Given the description of an element on the screen output the (x, y) to click on. 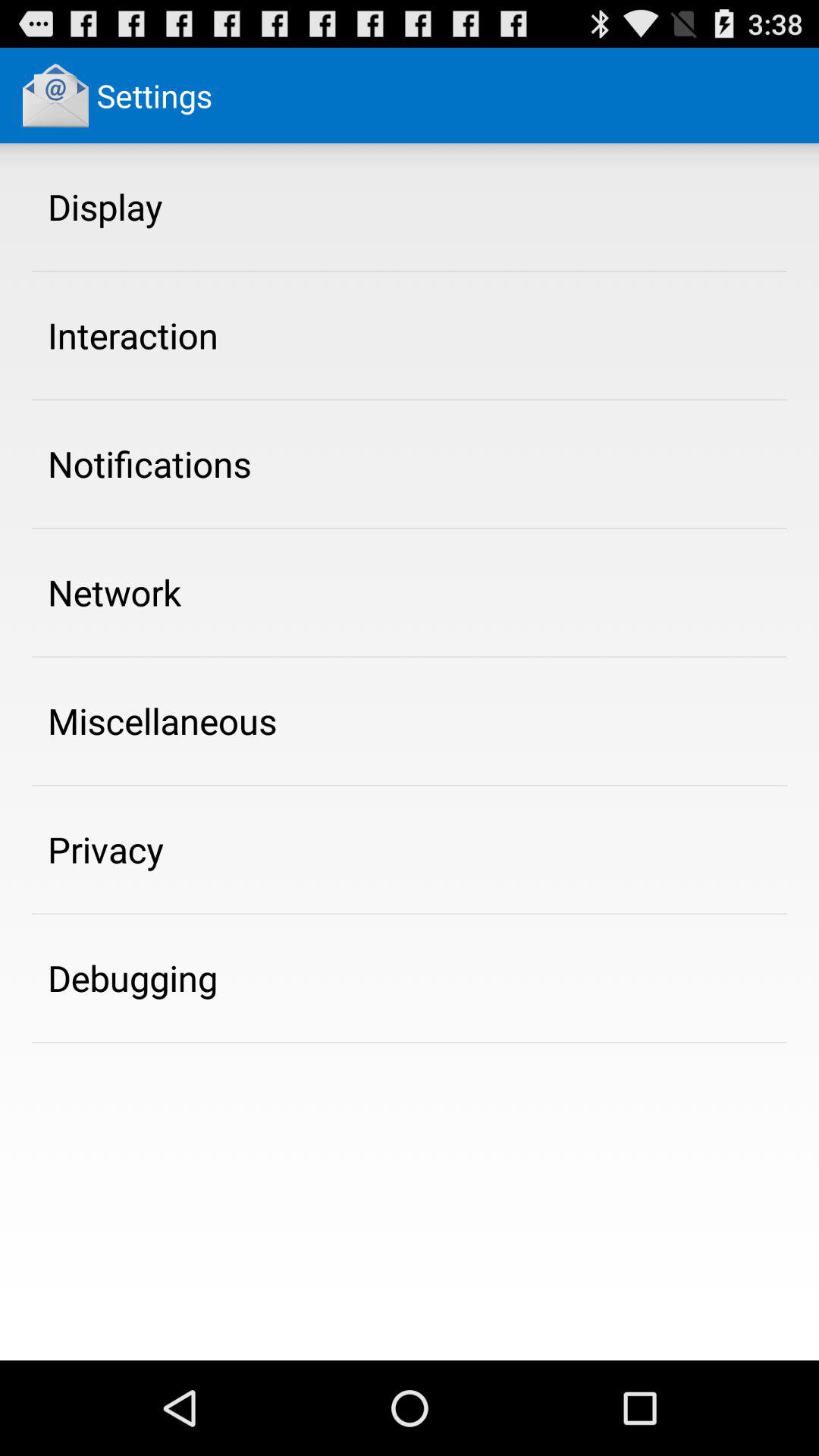
jump to privacy app (105, 849)
